Given the description of an element on the screen output the (x, y) to click on. 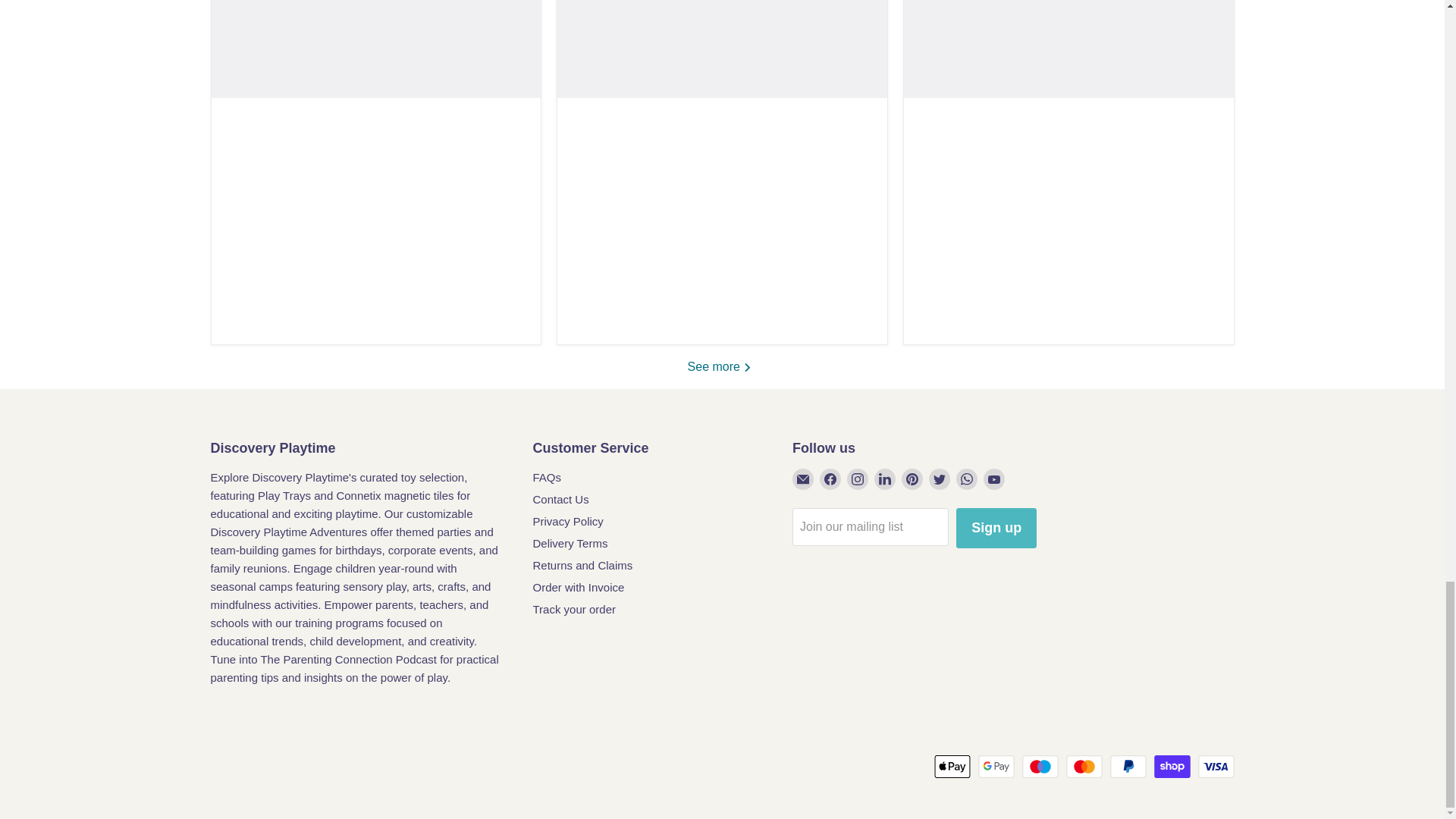
Email (802, 478)
Instagram (857, 478)
LinkedIn (885, 478)
Facebook (830, 478)
